Given the description of an element on the screen output the (x, y) to click on. 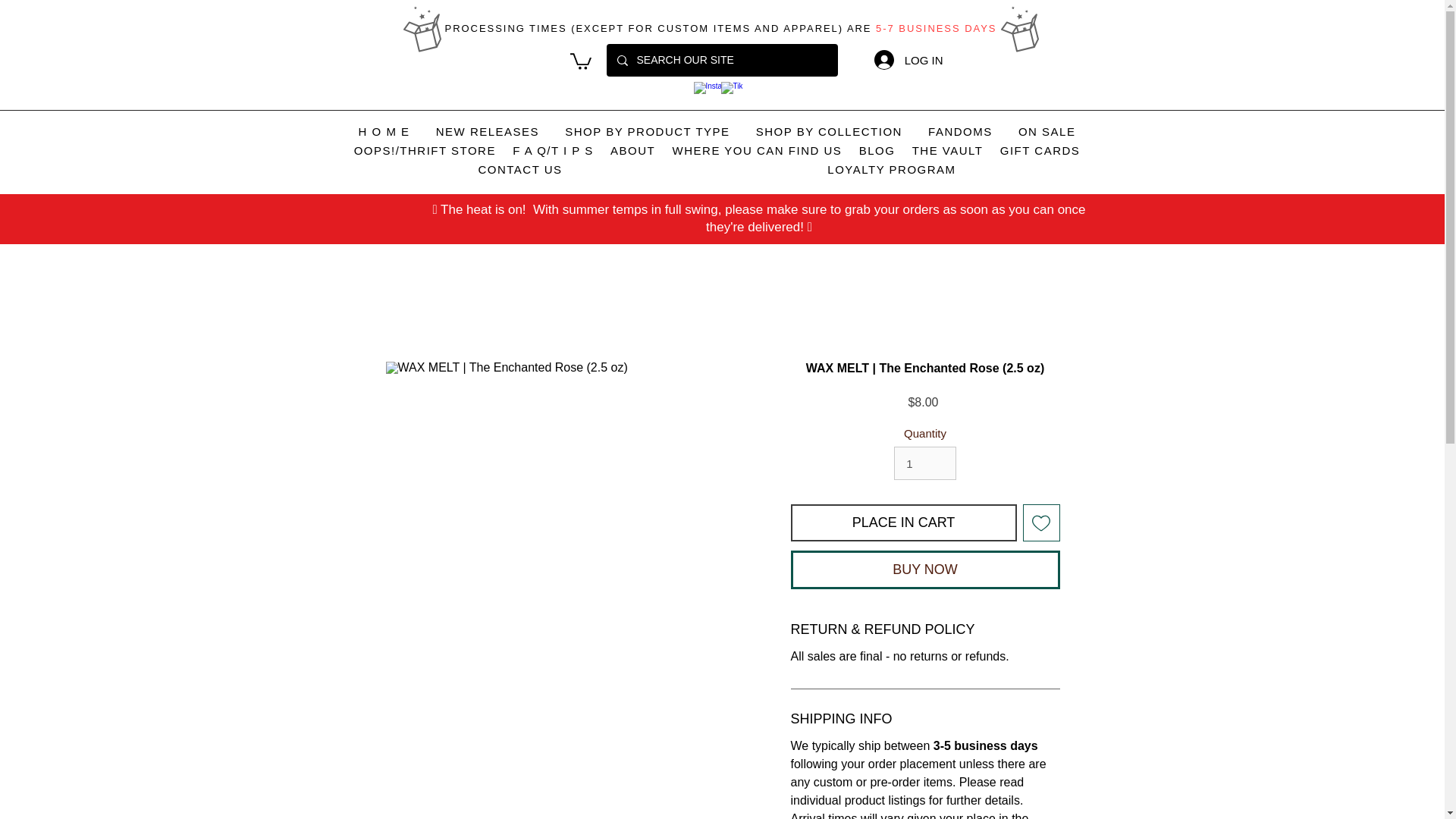
1 (924, 462)
SHOP BY PRODUCT TYPE (646, 131)
NEW RELEASES (488, 131)
FANDOMS (960, 131)
LOG IN (908, 59)
SHOP BY COLLECTION (828, 131)
H O M E (384, 131)
ON SALE (1047, 131)
